Given the description of an element on the screen output the (x, y) to click on. 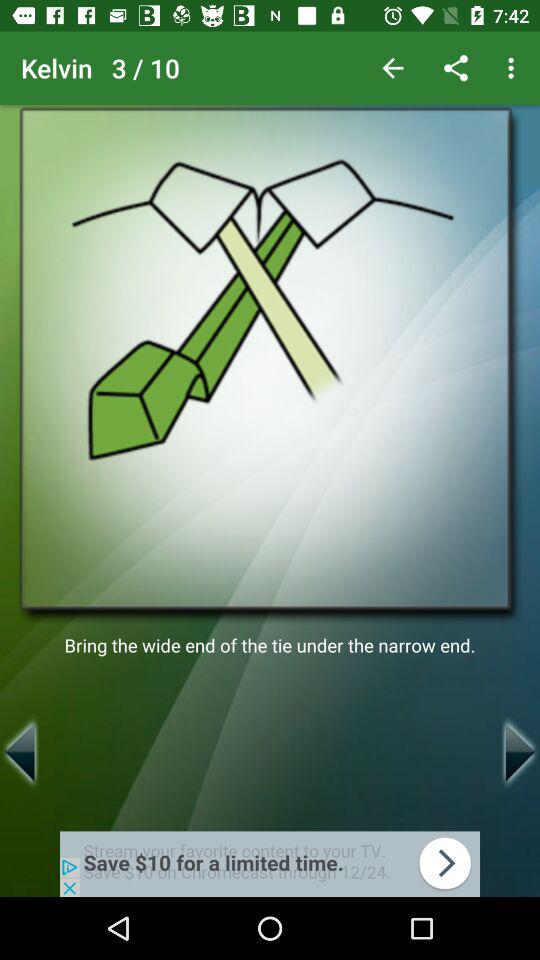
advertisement for chromecast (270, 864)
